Given the description of an element on the screen output the (x, y) to click on. 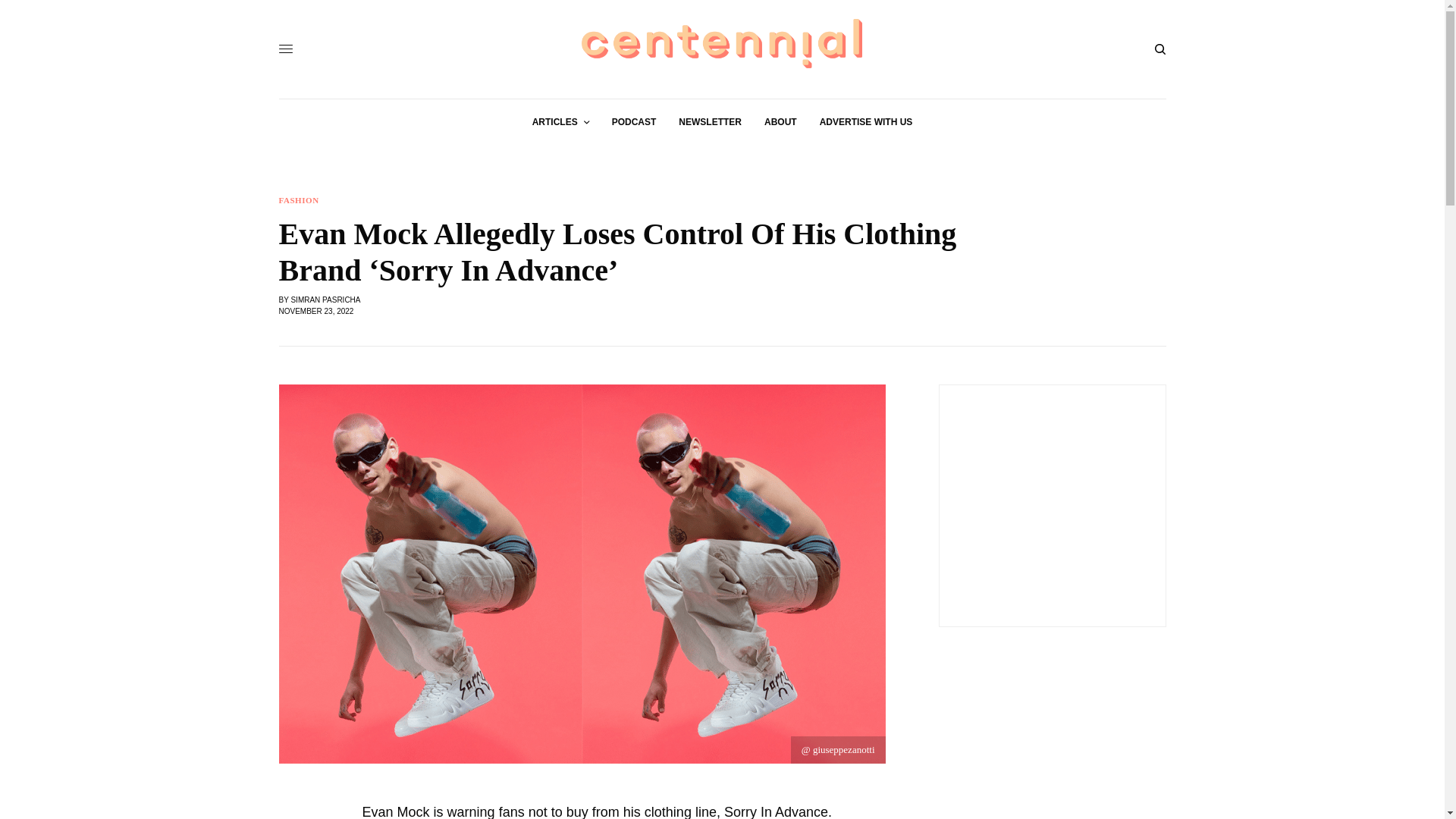
PODCAST (633, 121)
FASHION (298, 200)
ADVERTISE WITH US (865, 121)
NEWSLETTER (709, 121)
SIMRAN PASRICHA (324, 299)
ARTICLES (560, 121)
